Given the description of an element on the screen output the (x, y) to click on. 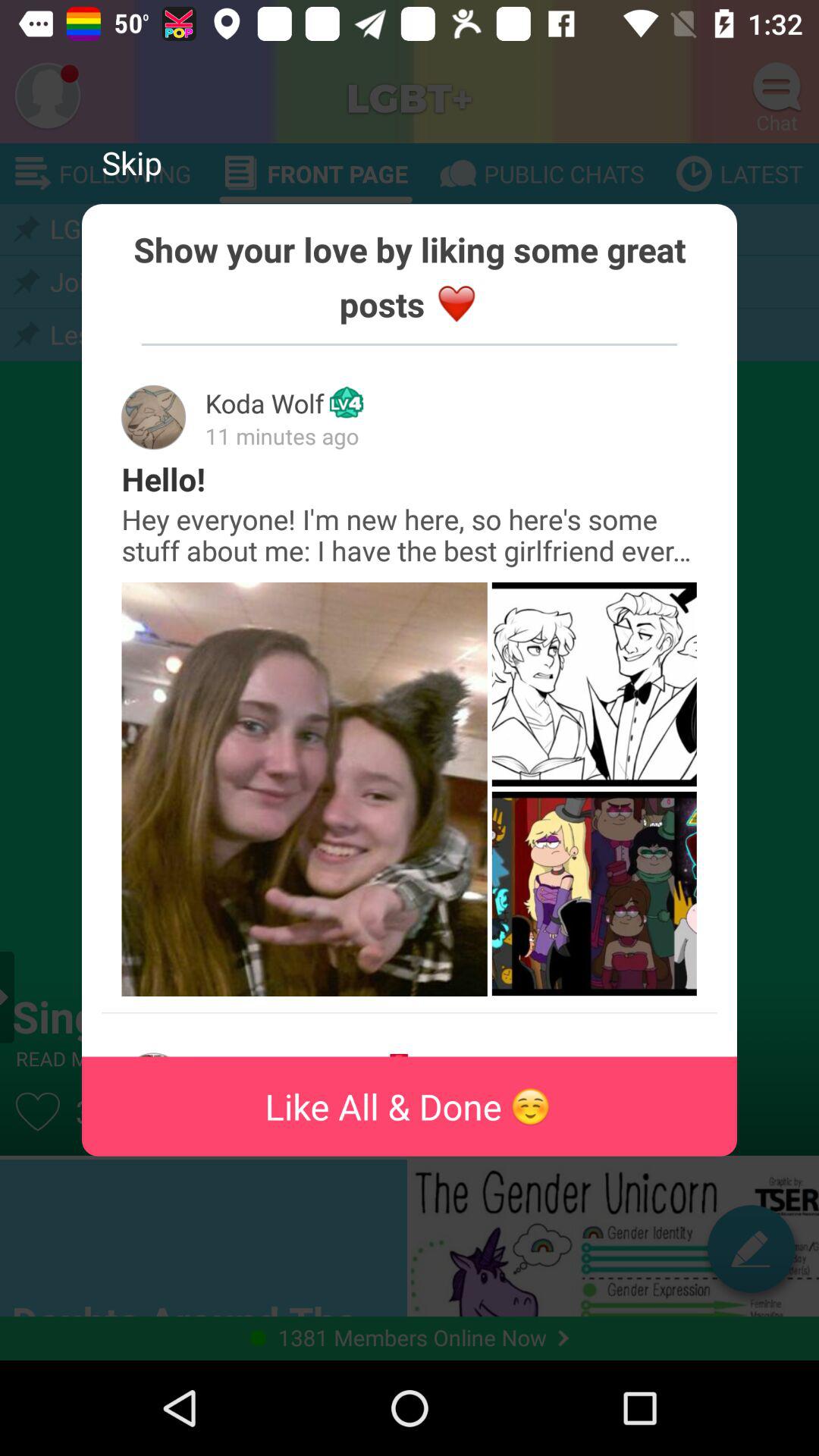
select the first image of two ladies (304, 788)
click on first image of second column from left (594, 684)
click on the skip button at the top left of the page (131, 161)
